Given the description of an element on the screen output the (x, y) to click on. 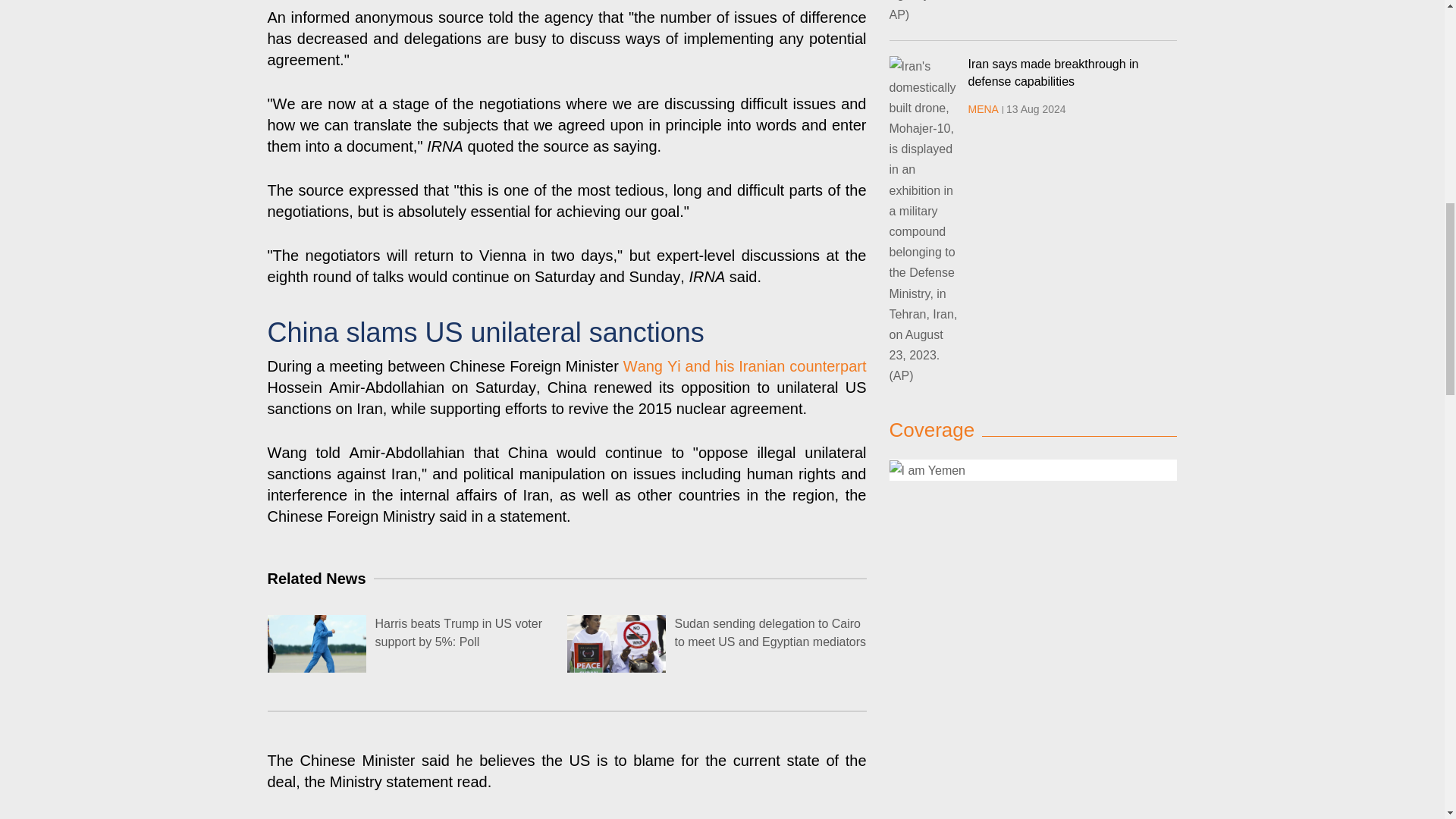
I am Yemen (926, 470)
I am Yemen (1032, 469)
MENA (982, 109)
